Given the description of an element on the screen output the (x, y) to click on. 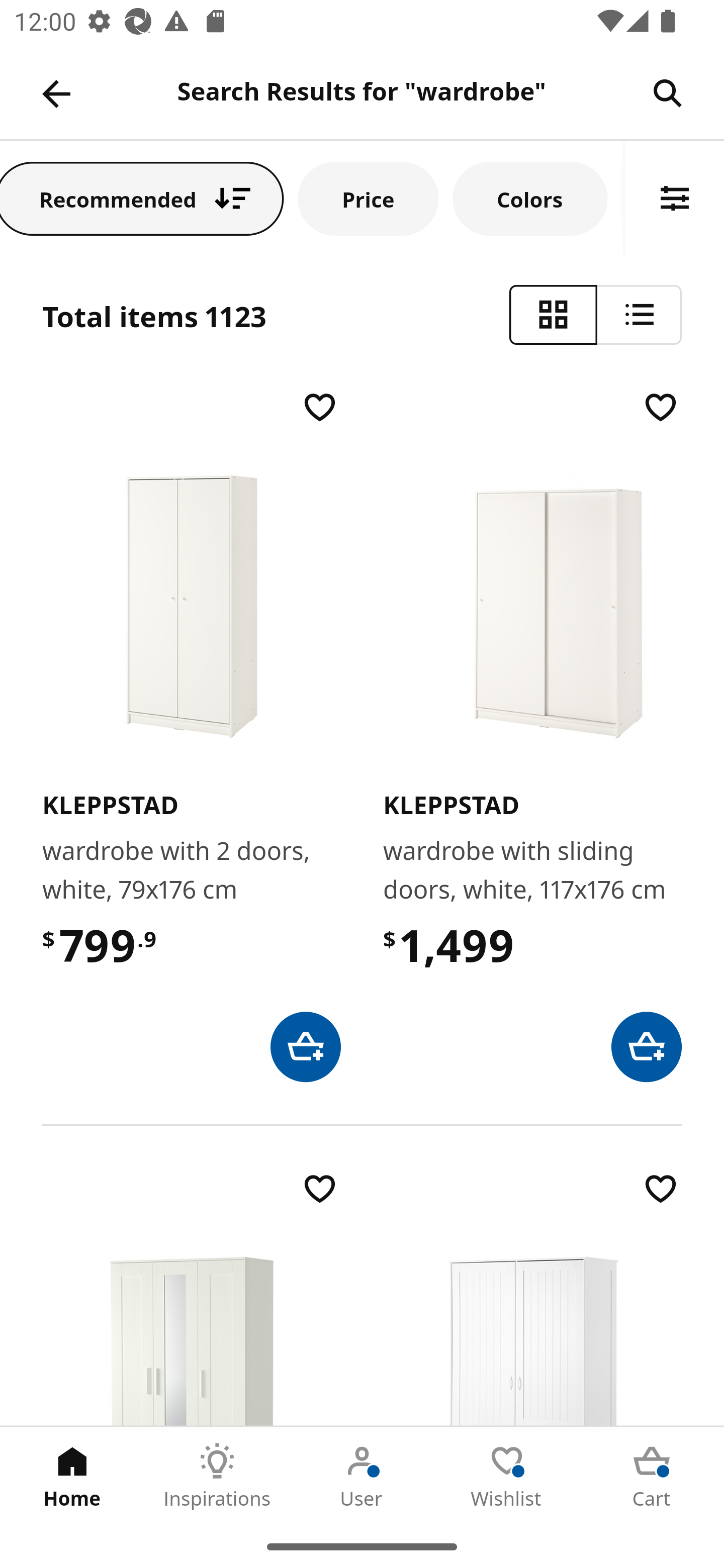
Recommended (141, 198)
Price (367, 198)
Colors (529, 198)
Home
Tab 1 of 5 (72, 1476)
Inspirations
Tab 2 of 5 (216, 1476)
User
Tab 3 of 5 (361, 1476)
Wishlist
Tab 4 of 5 (506, 1476)
Cart
Tab 5 of 5 (651, 1476)
